Given the description of an element on the screen output the (x, y) to click on. 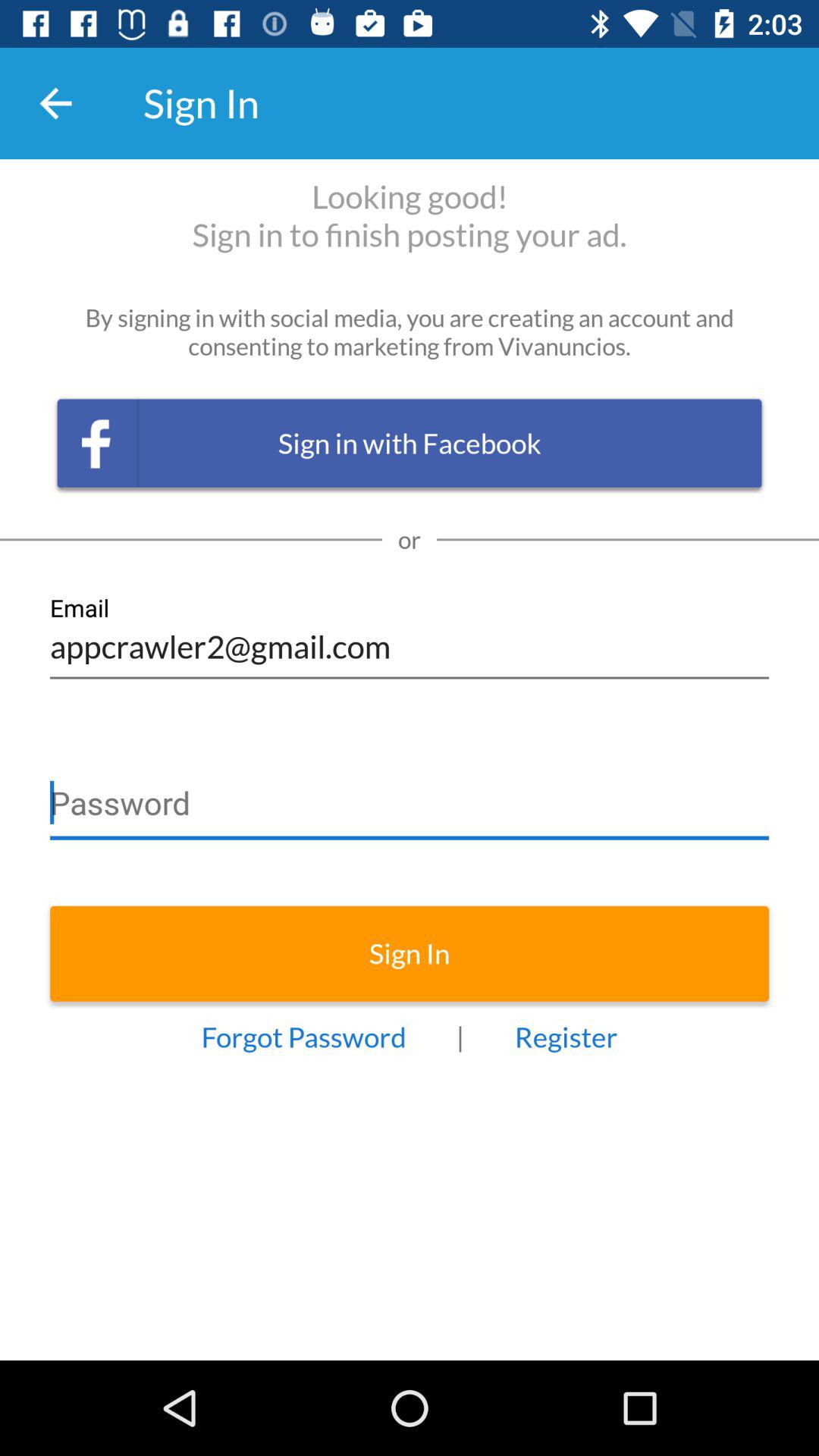
turn on the item next to the | (565, 1036)
